Given the description of an element on the screen output the (x, y) to click on. 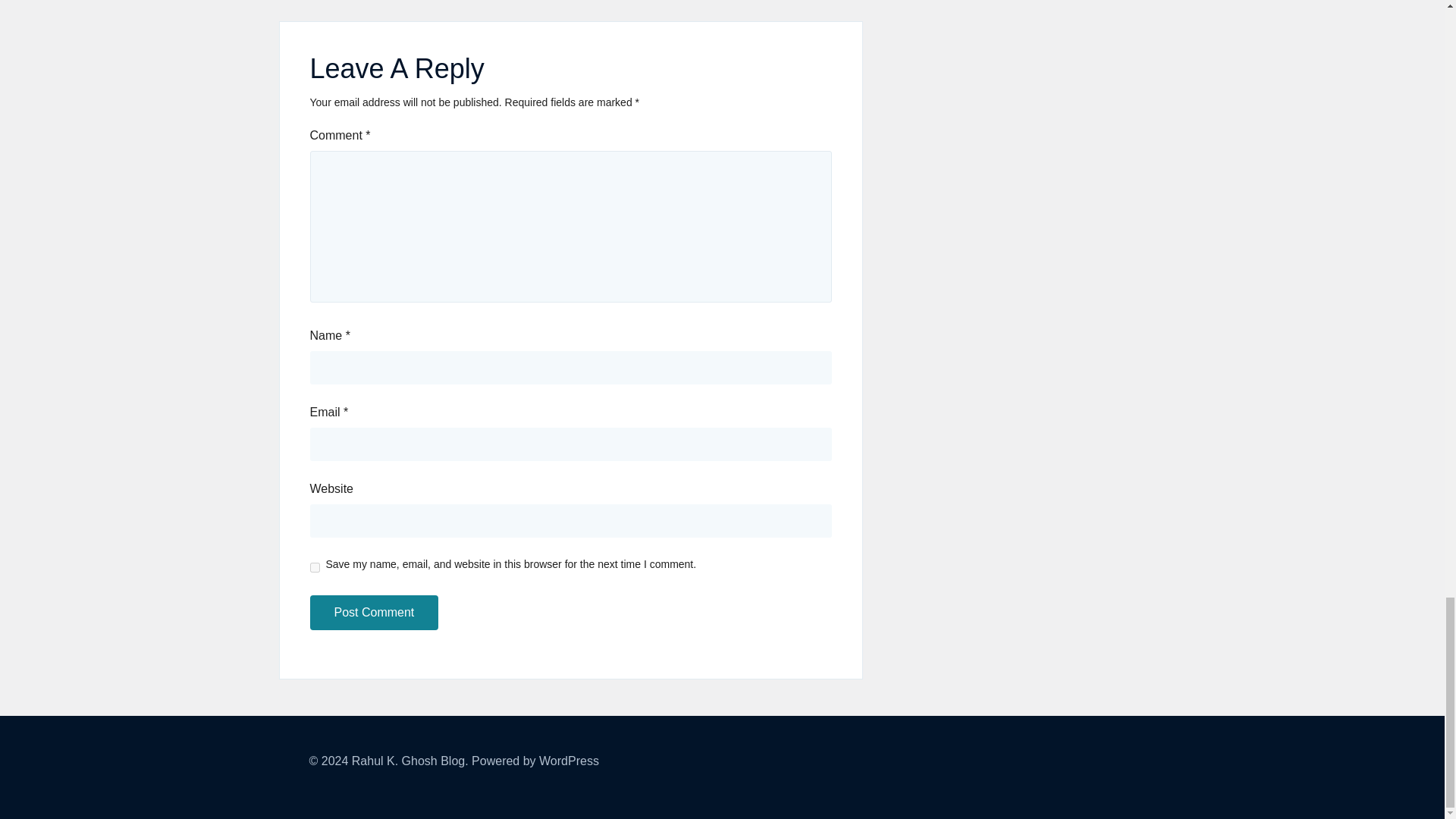
Rahul K. Ghosh Blog. (410, 760)
yes (313, 567)
Powered by WordPress (534, 760)
Post Comment (373, 612)
Post Comment (373, 612)
